Given the description of an element on the screen output the (x, y) to click on. 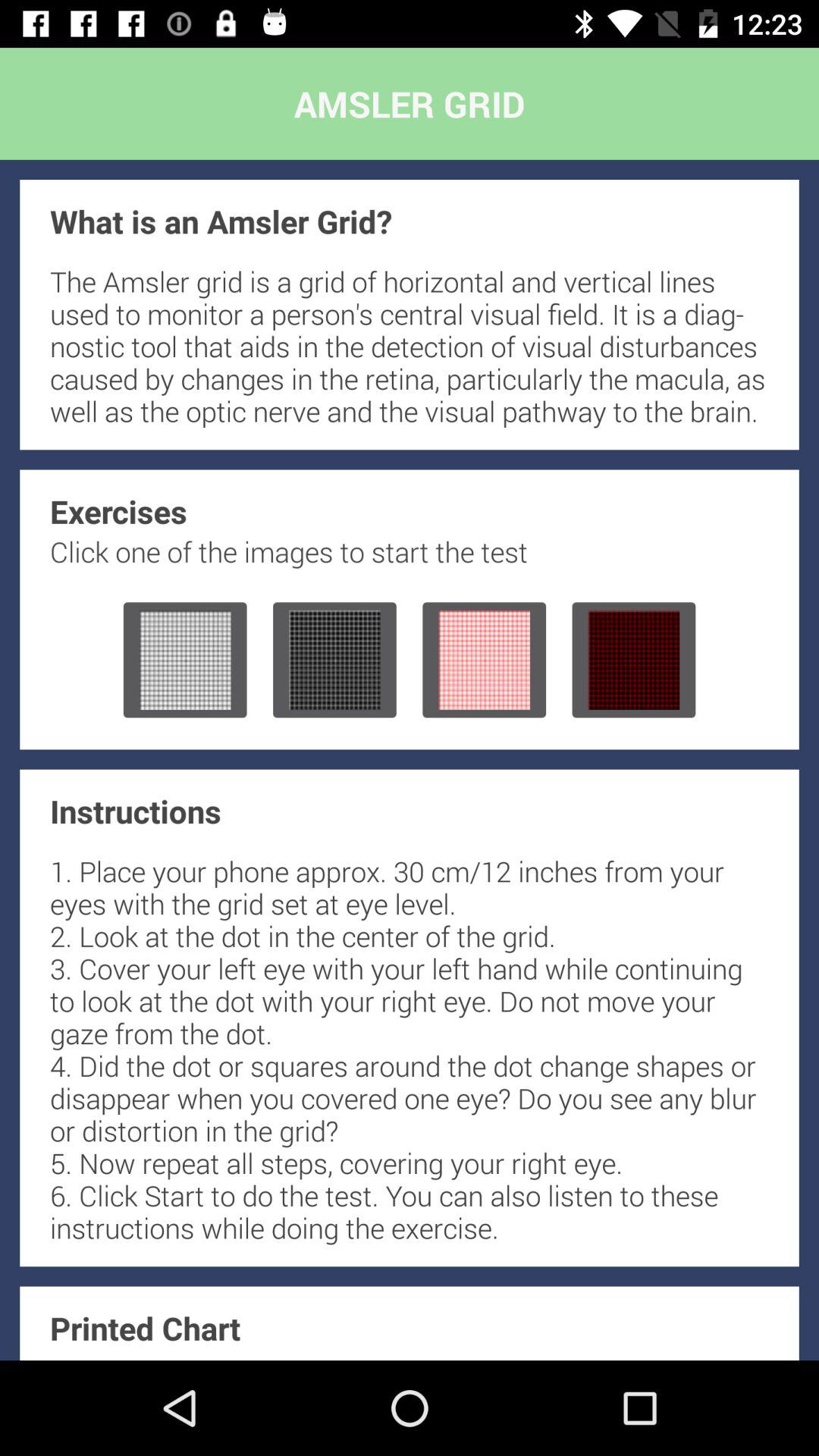
view image (184, 659)
